Given the description of an element on the screen output the (x, y) to click on. 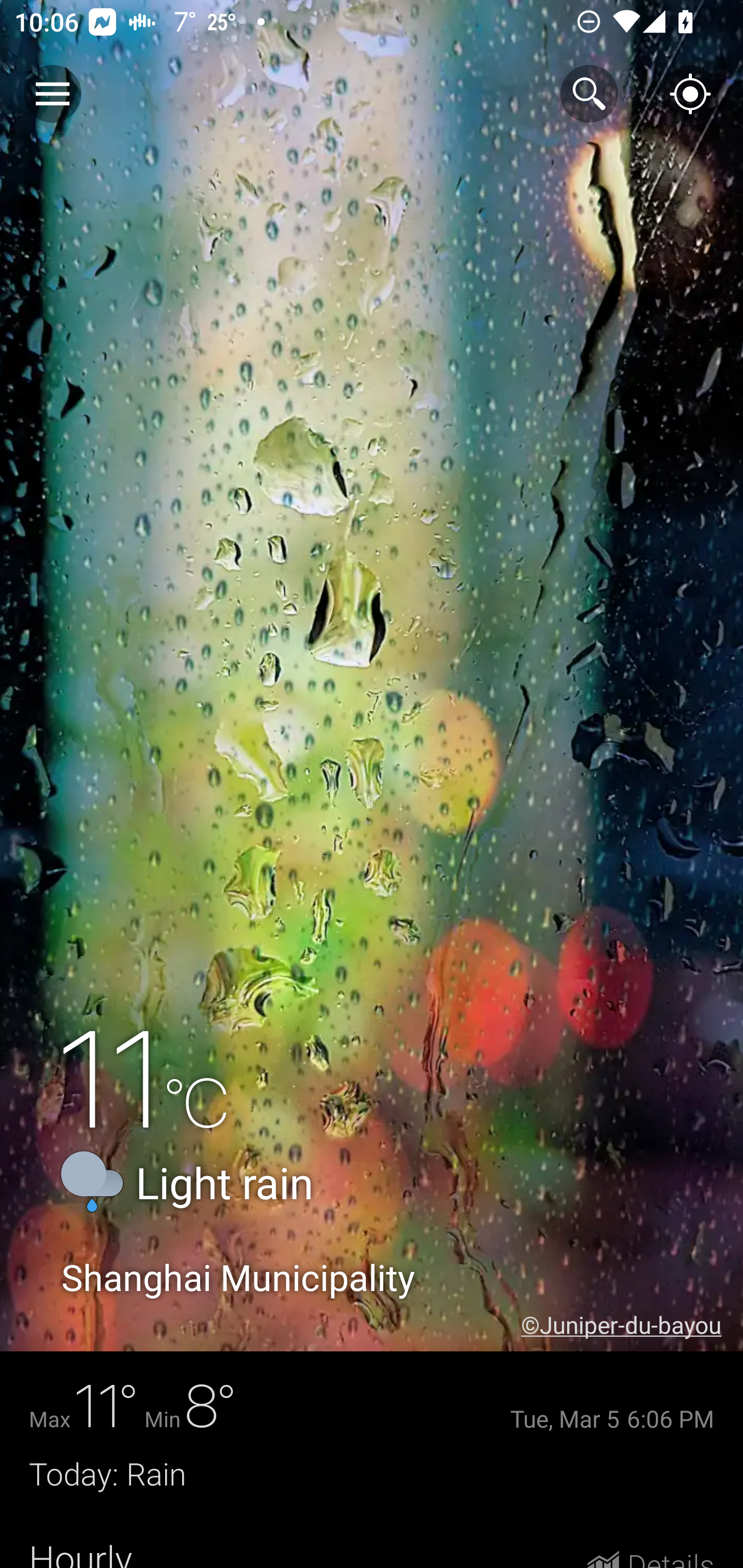
©Juniper-du-bayou (631, 1324)
